Given the description of an element on the screen output the (x, y) to click on. 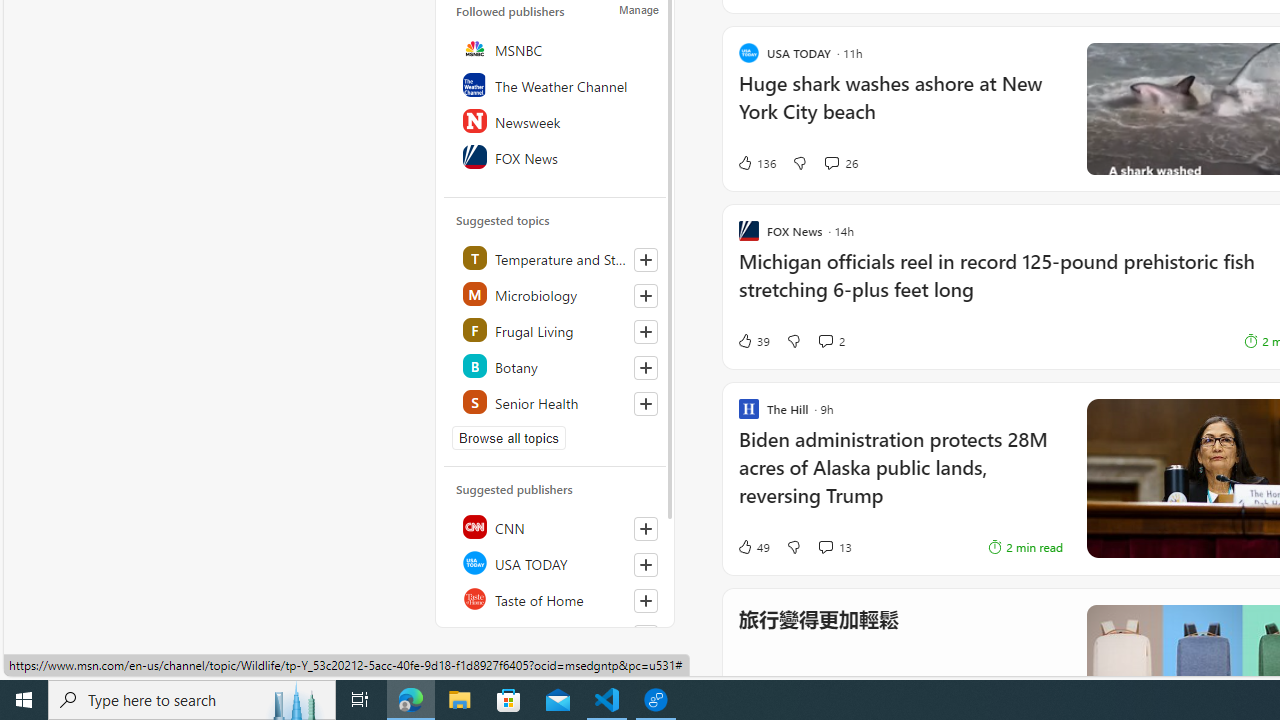
USA TODAY (556, 562)
View comments 13 Comment (834, 546)
NBC News (556, 634)
Follow this source (645, 636)
Huge shark washes ashore at New York City beach (900, 107)
Taste of Home (556, 598)
View comments 2 Comment (825, 340)
Newsweek (556, 120)
136 Like (755, 162)
FOX News (556, 156)
Class: highlight (556, 401)
Manage (639, 9)
View comments 13 Comment (825, 547)
